Given the description of an element on the screen output the (x, y) to click on. 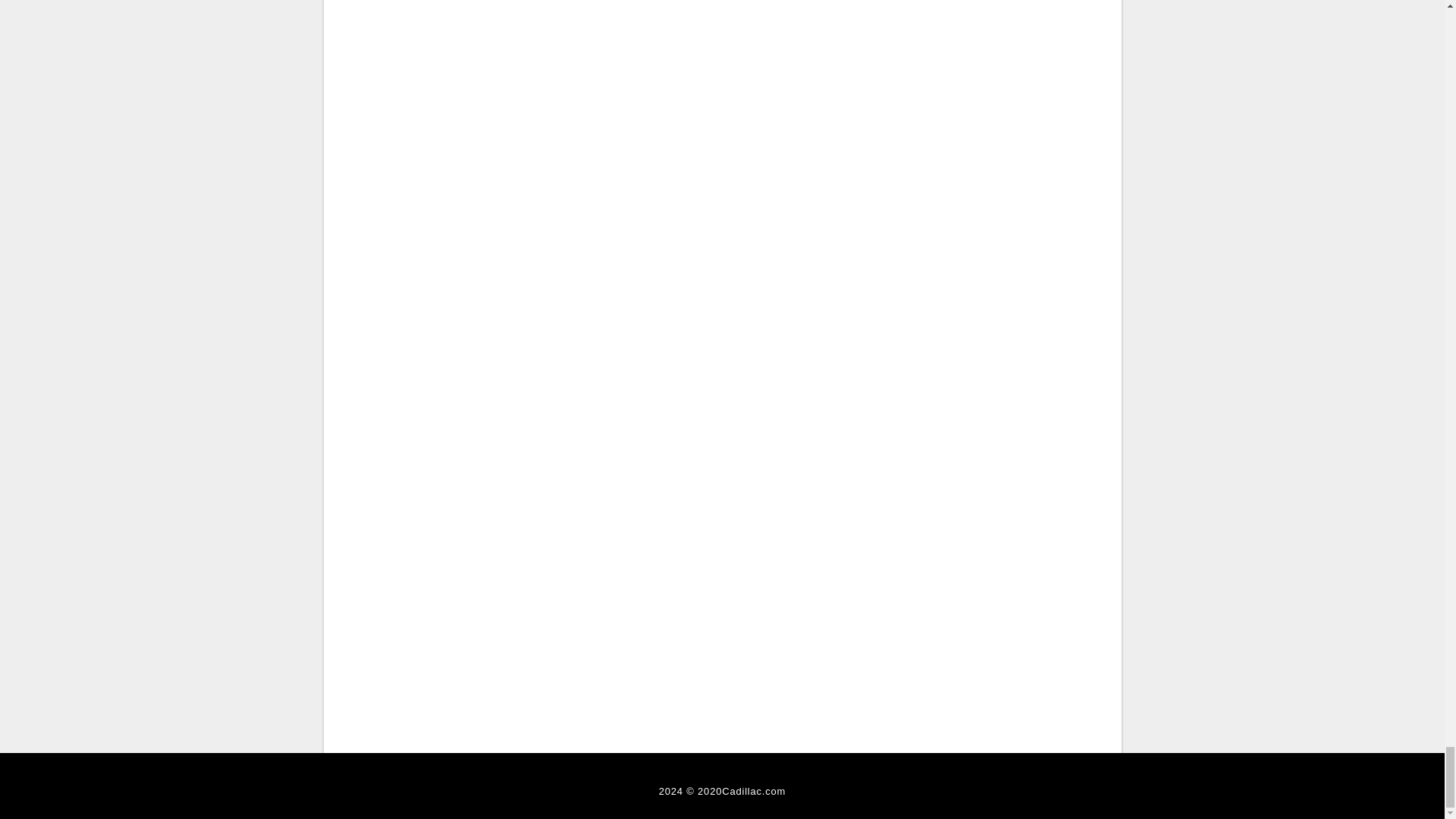
2020Cadillac.com (741, 790)
